Given the description of an element on the screen output the (x, y) to click on. 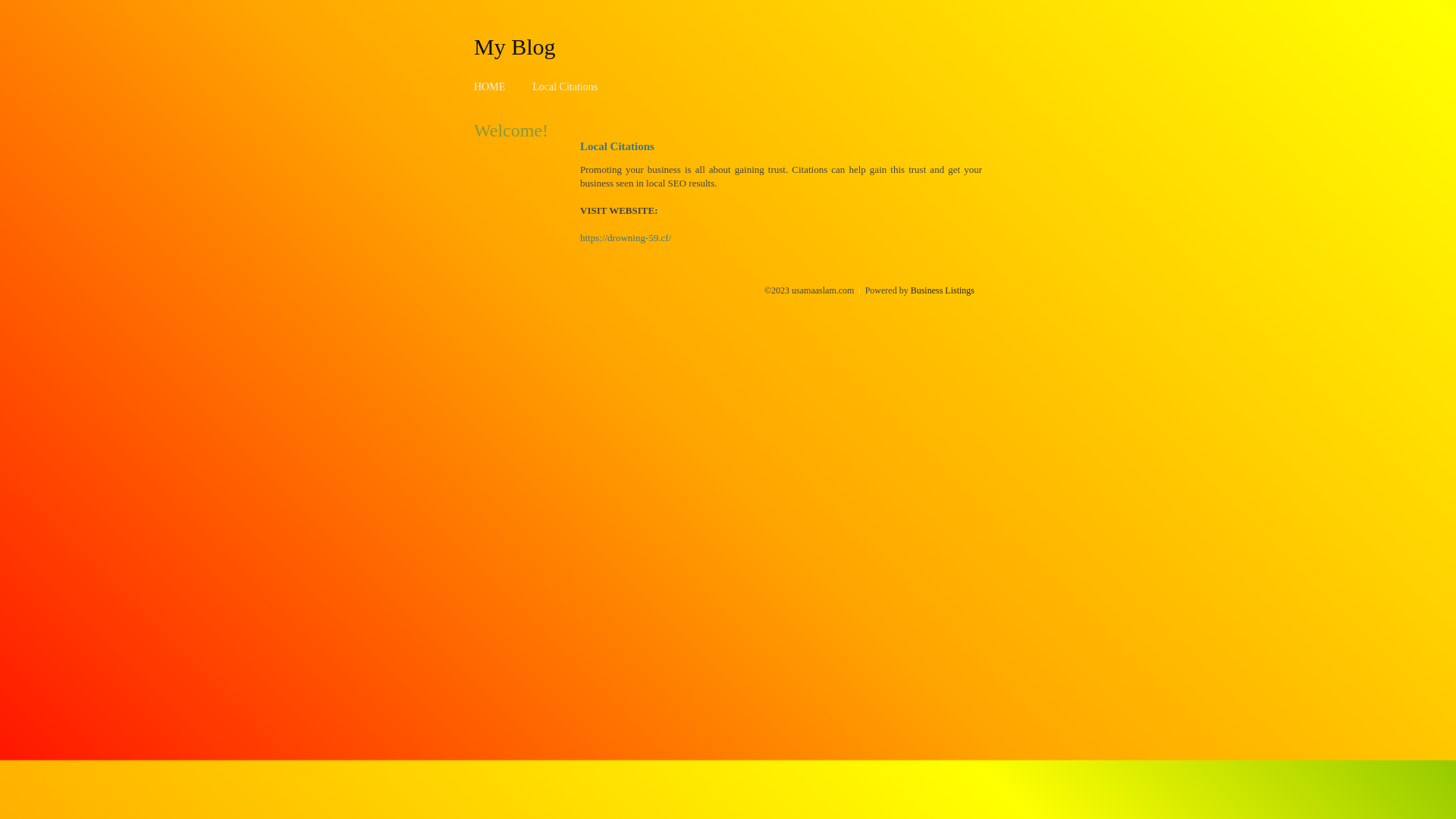
https://drowning-59.cf/ Element type: text (625, 237)
My Blog Element type: text (514, 46)
Business Listings Element type: text (942, 290)
Local Citations Element type: text (564, 86)
HOME Element type: text (489, 86)
